Given the description of an element on the screen output the (x, y) to click on. 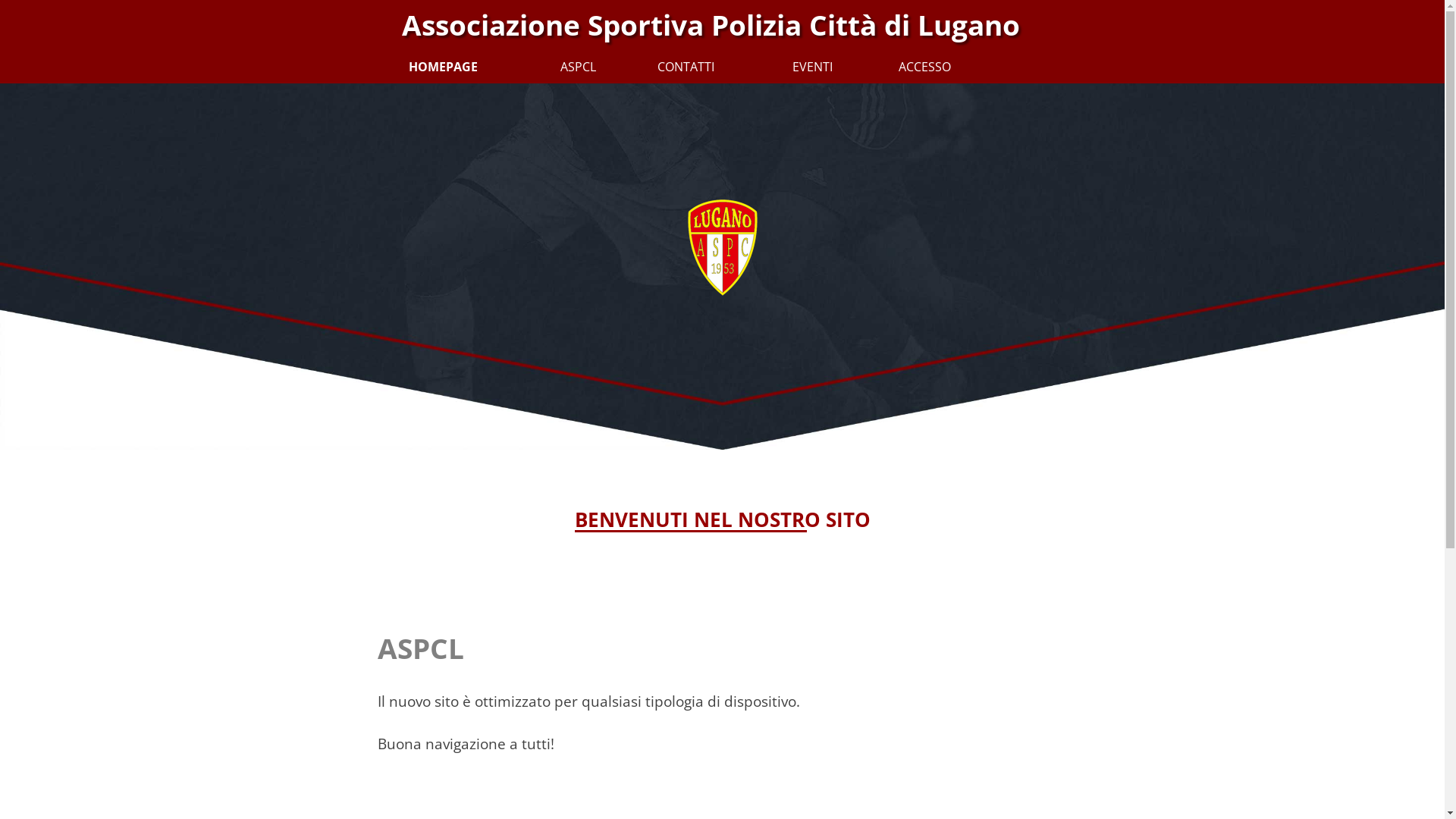
CONTATTI Element type: text (658, 65)
EVENTI Element type: text (776, 65)
HOMEPAGE Element type: text (422, 65)
ACCESSO Element type: text (895, 65)
